Given the description of an element on the screen output the (x, y) to click on. 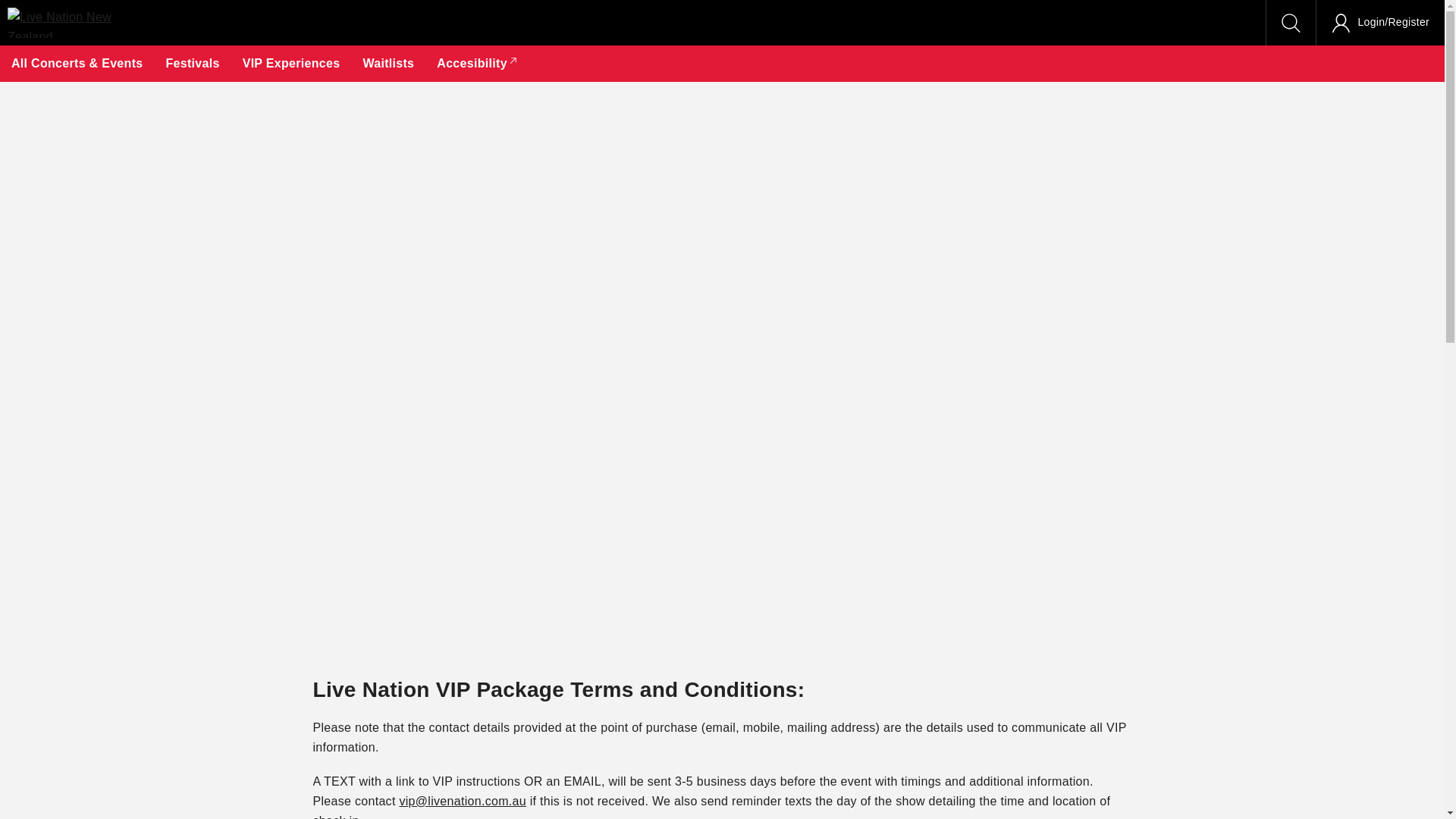
VIP Experiences (291, 63)
Waitlists (387, 63)
Search (1291, 22)
Accesibility (478, 63)
Accesibility opens in a new tab (478, 63)
Festivals (192, 63)
